Given the description of an element on the screen output the (x, y) to click on. 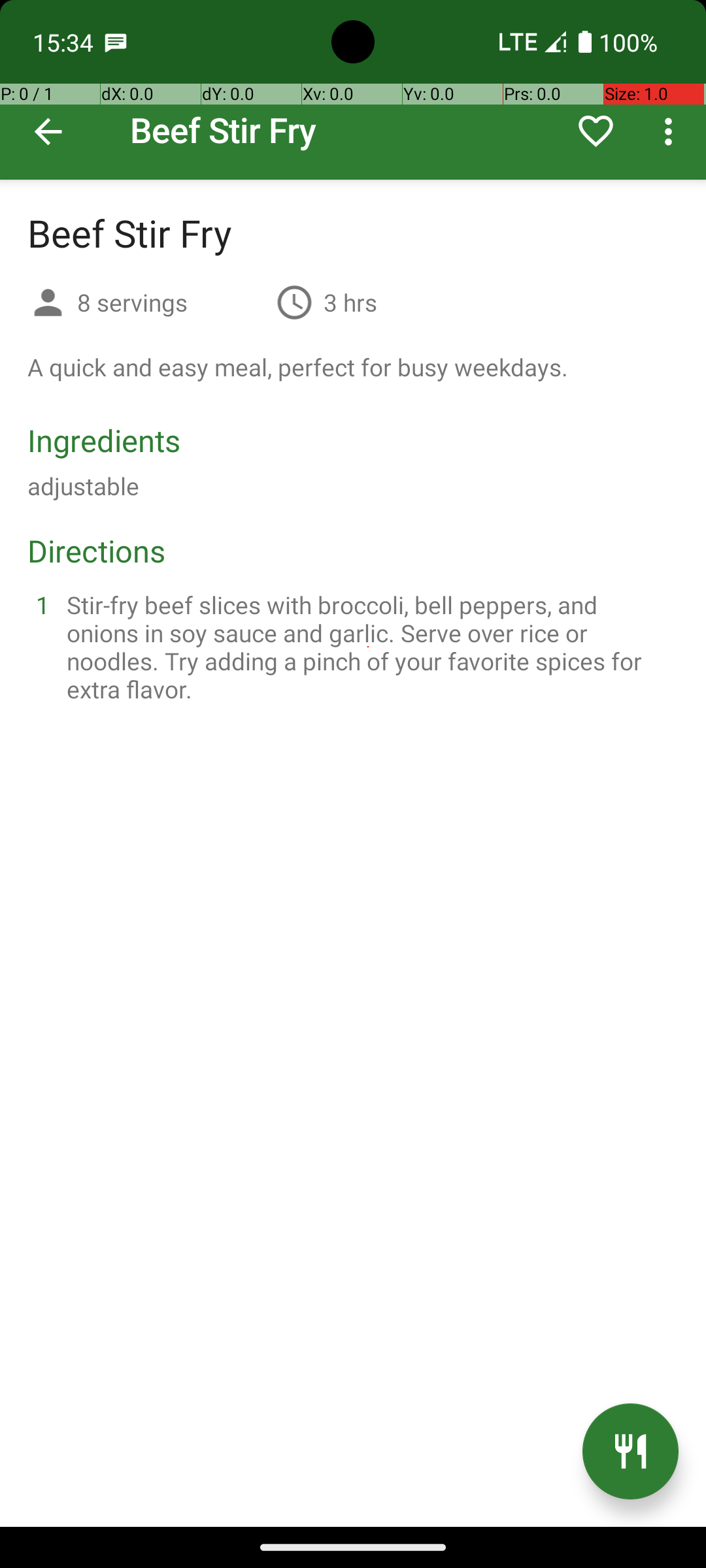
Stir-fry beef slices with broccoli, bell peppers, and onions in soy sauce and garlic. Serve over rice or noodles. Try adding a pinch of your favorite spices for extra flavor. Element type: android.widget.TextView (368, 646)
